Given the description of an element on the screen output the (x, y) to click on. 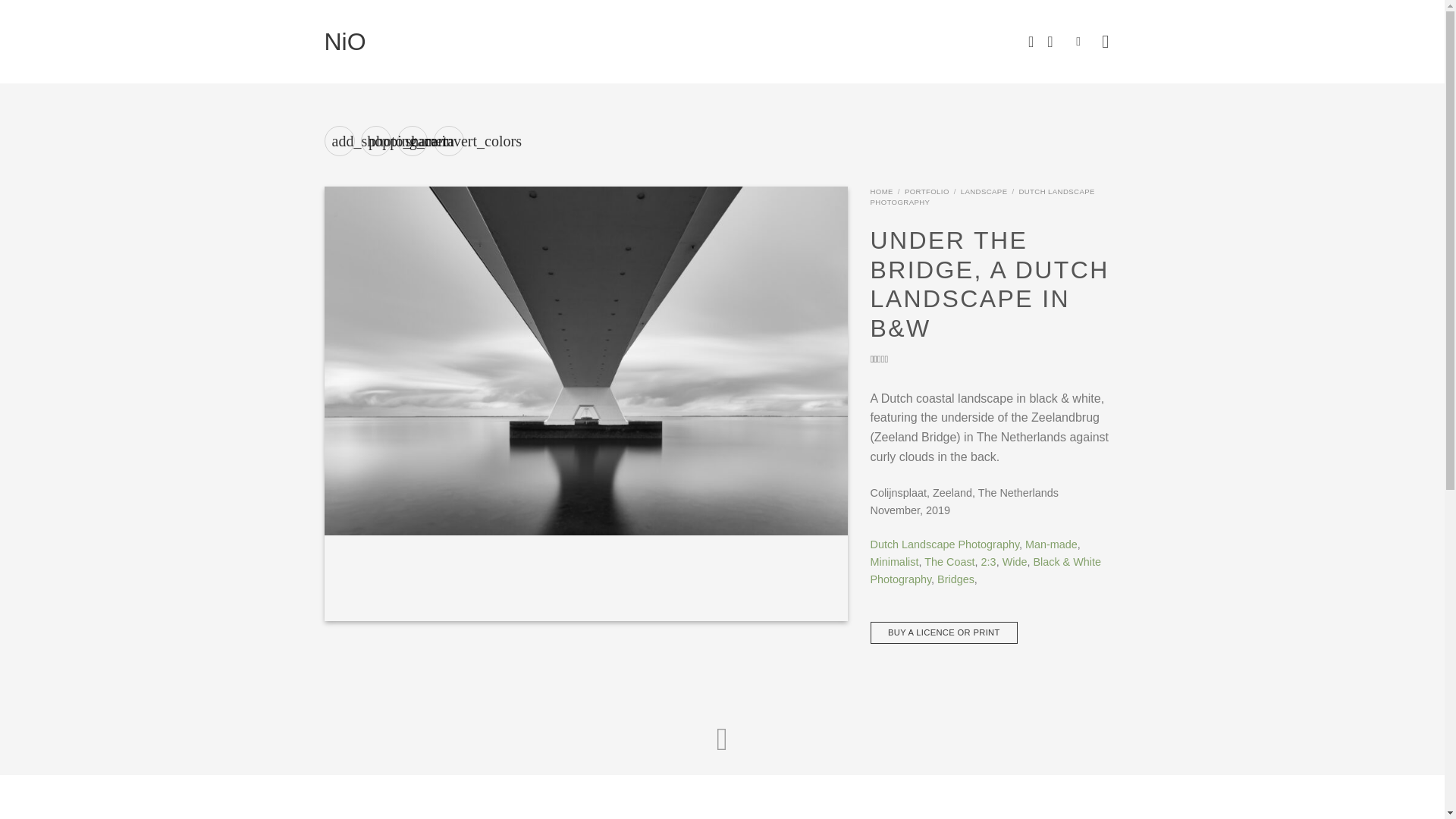
Camera info and settings (376, 141)
Minimalist (894, 562)
Man-made (1051, 544)
Purchase a licence or print (339, 141)
PORTFOLIO (926, 191)
Wishlist (1030, 41)
Share this photograph (412, 141)
share (412, 141)
LANDSCAPE (995, 359)
Dutch Landscape Photography (983, 191)
The Coast (945, 544)
HOME (949, 562)
DUTCH LANDSCAPE PHOTOGRAPHY (881, 191)
NiO (982, 196)
